Given the description of an element on the screen output the (x, y) to click on. 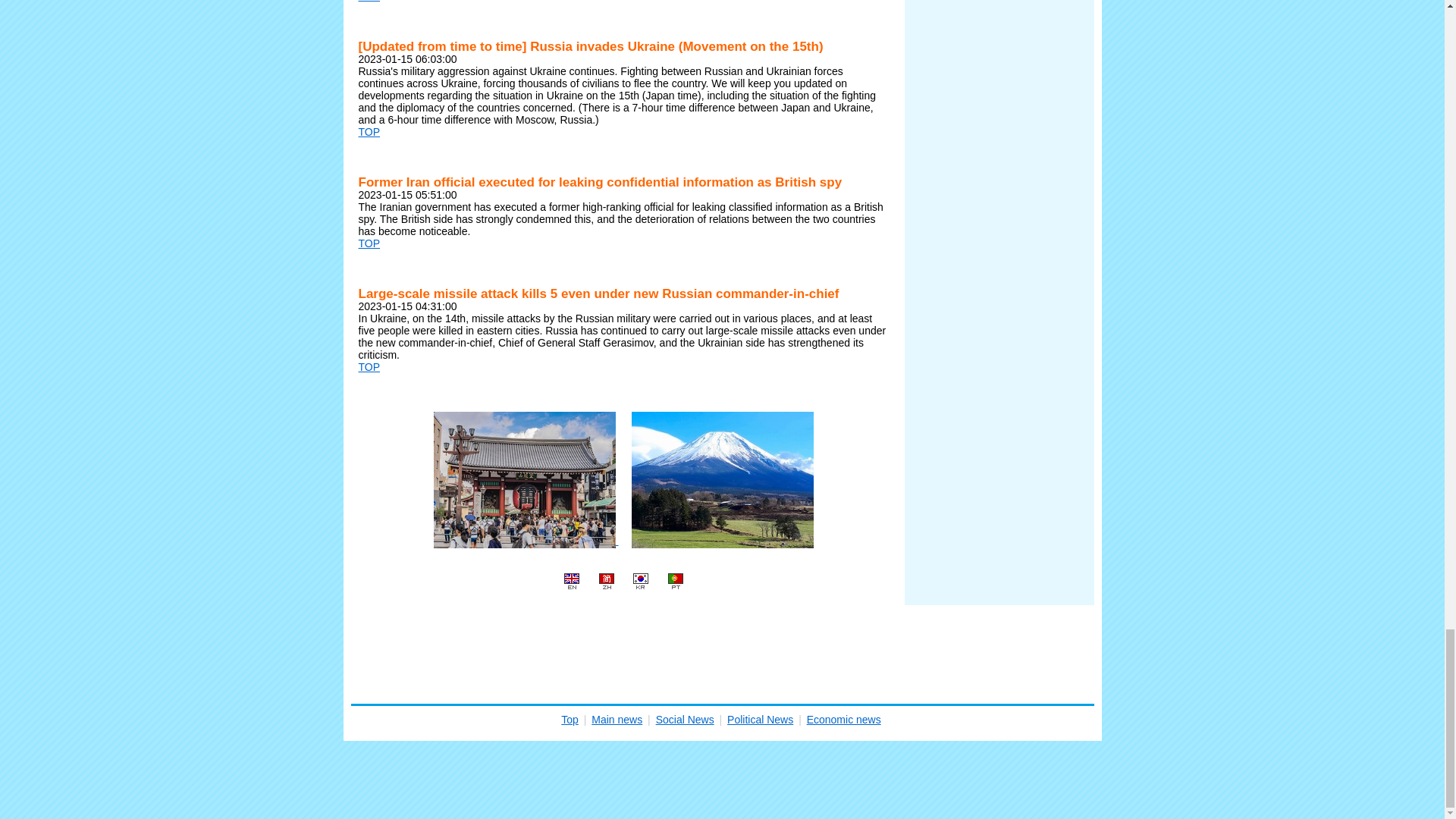
TOP (369, 132)
TOP (369, 367)
TOP (369, 243)
TOP (369, 1)
